Given the description of an element on the screen output the (x, y) to click on. 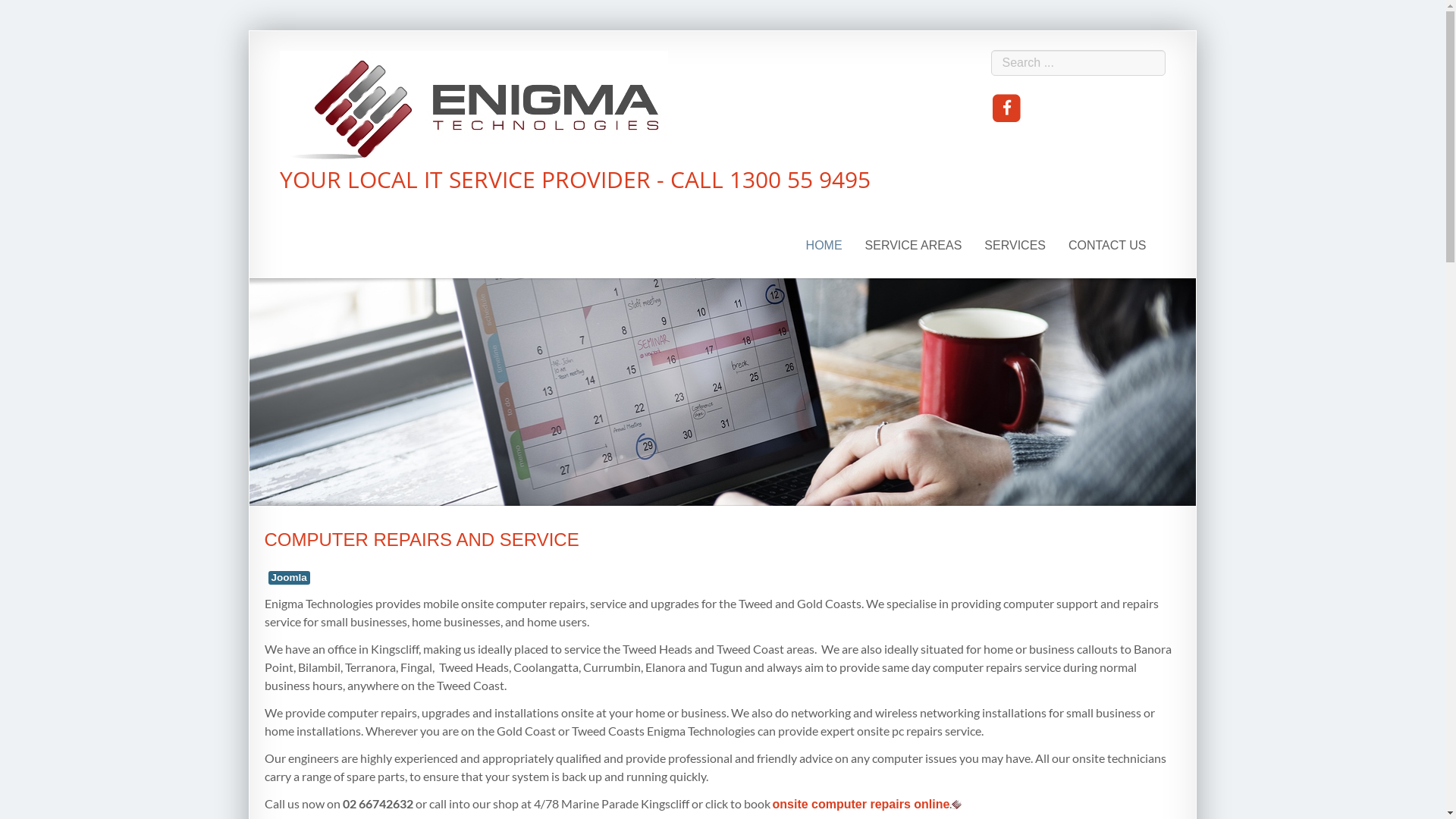
HOME Element type: text (823, 245)
Joomla Element type: text (289, 577)
Find me on Facebook Element type: hover (1006, 108)
CONTACT US Element type: text (1107, 245)
onsite computer repairs online Element type: text (860, 803)
YOUR LOCAL IT SERVICE PROVIDER - CALL 1300 55 9495 Element type: text (573, 120)
SERVICE AREAS Element type: text (913, 245)
SERVICES Element type: text (1014, 245)
COMPUTER REPAIRS AND SERVICE Element type: text (420, 539)
